Given the description of an element on the screen output the (x, y) to click on. 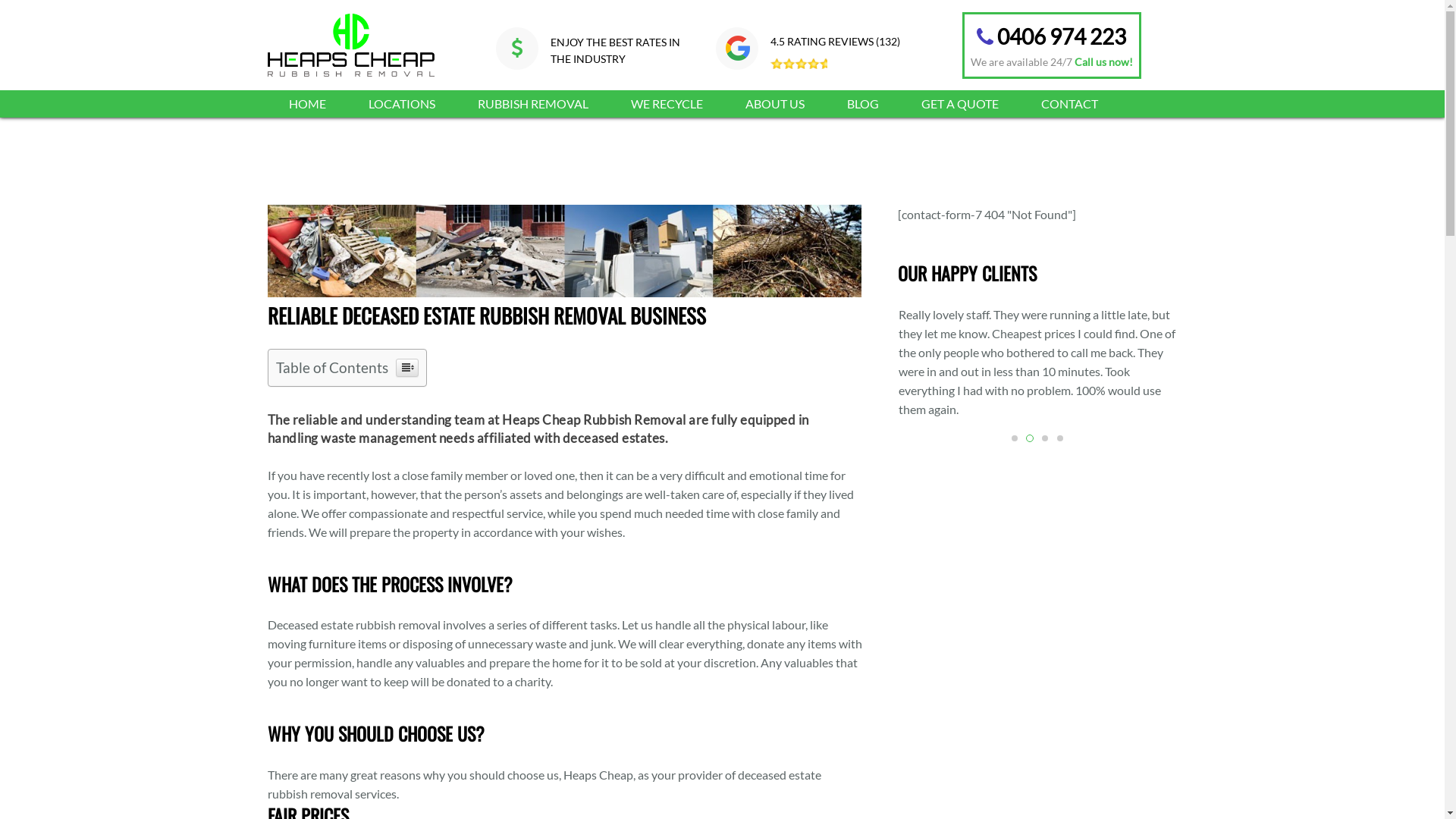
BLOG Element type: text (862, 103)
CONTACT Element type: text (1068, 103)
0406 974 223 Element type: text (1051, 36)
ABOUT US Element type: text (774, 103)
RUBBISH REMOVAL Element type: text (532, 103)
WE RECYCLE Element type: text (666, 103)
HOME Element type: text (306, 103)
LOCATIONS Element type: text (401, 103)
GET A QUOTE Element type: text (959, 103)
